Given the description of an element on the screen output the (x, y) to click on. 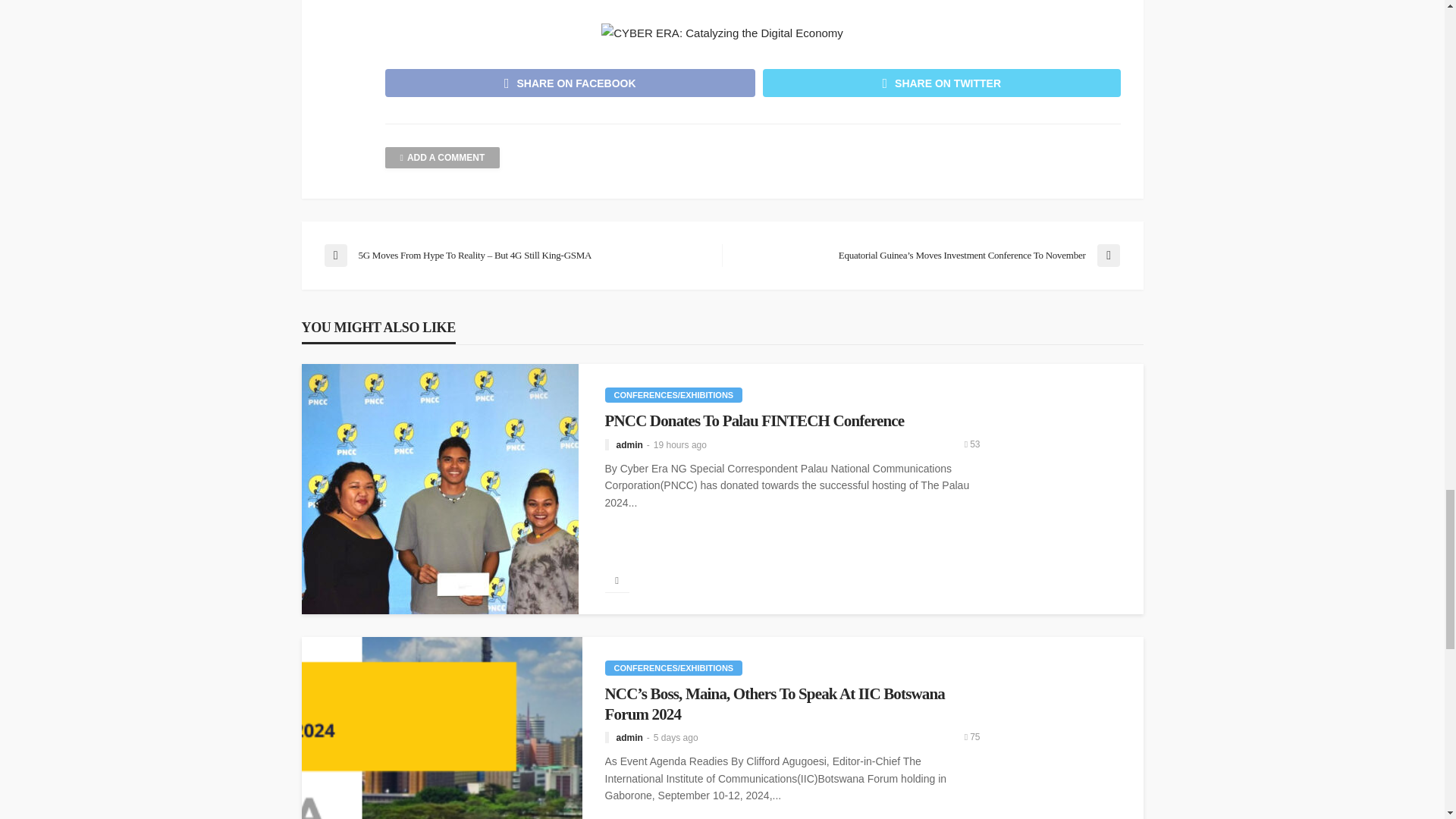
PNCC Donates To Palau FINTECH Conference (439, 488)
PNCC Donates To Palau FINTECH Conference (792, 420)
